Given the description of an element on the screen output the (x, y) to click on. 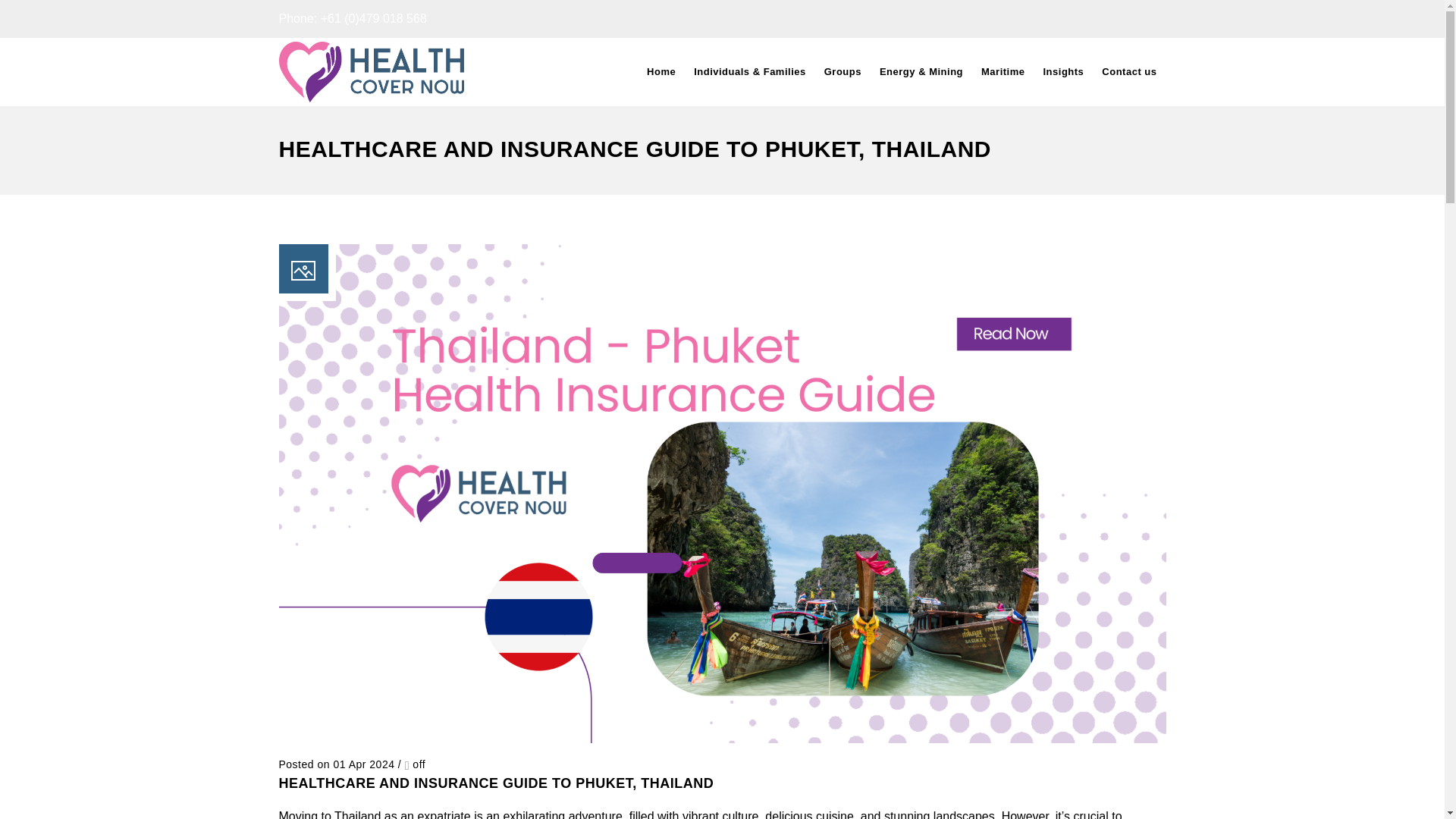
Health Cover Now (371, 71)
HEALTHCARE AND INSURANCE GUIDE TO PHUKET, THAILAND (496, 783)
Health Cover Now (371, 71)
